Given the description of an element on the screen output the (x, y) to click on. 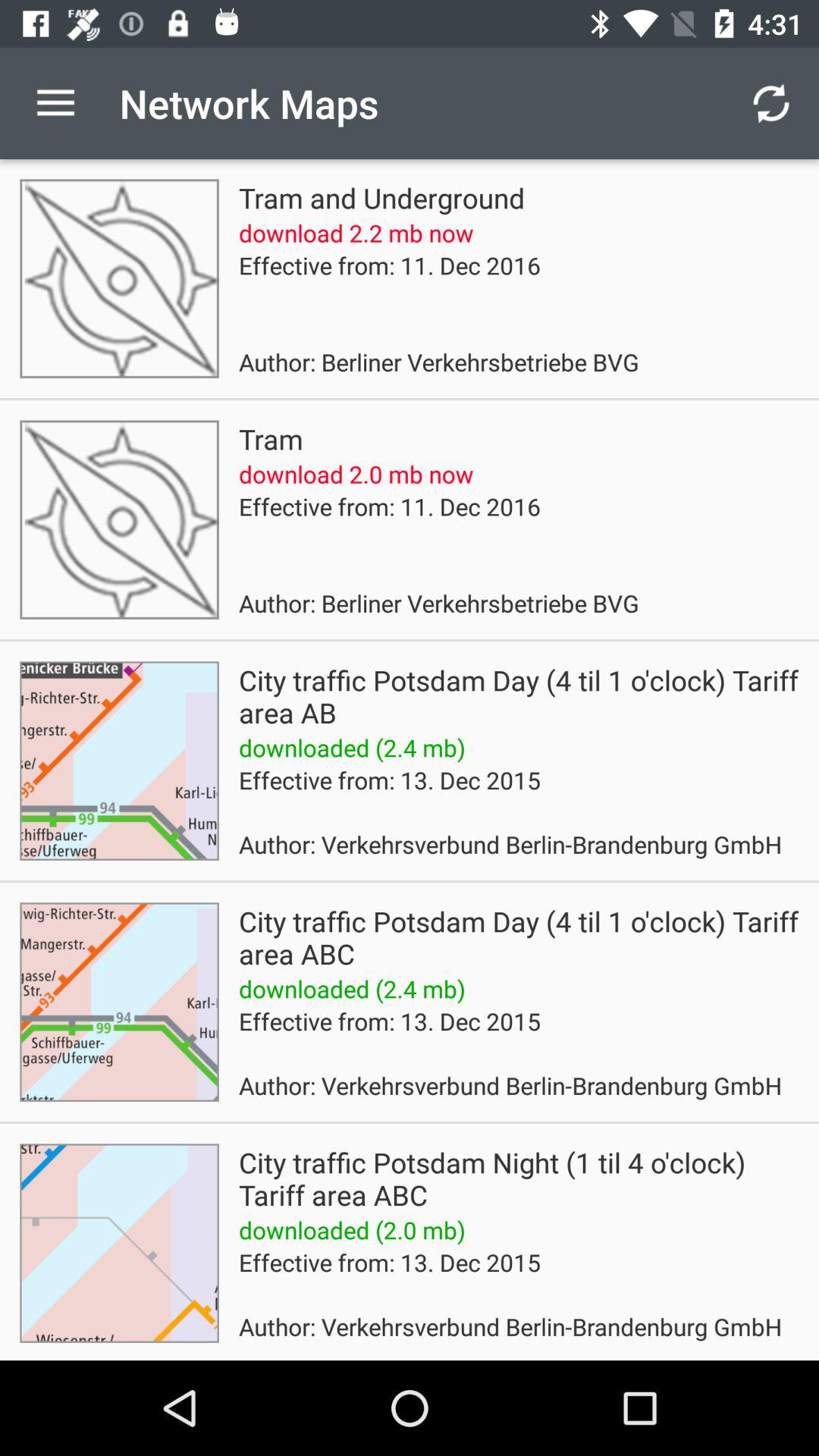
tap the app to the right of network maps (771, 103)
